Given the description of an element on the screen output the (x, y) to click on. 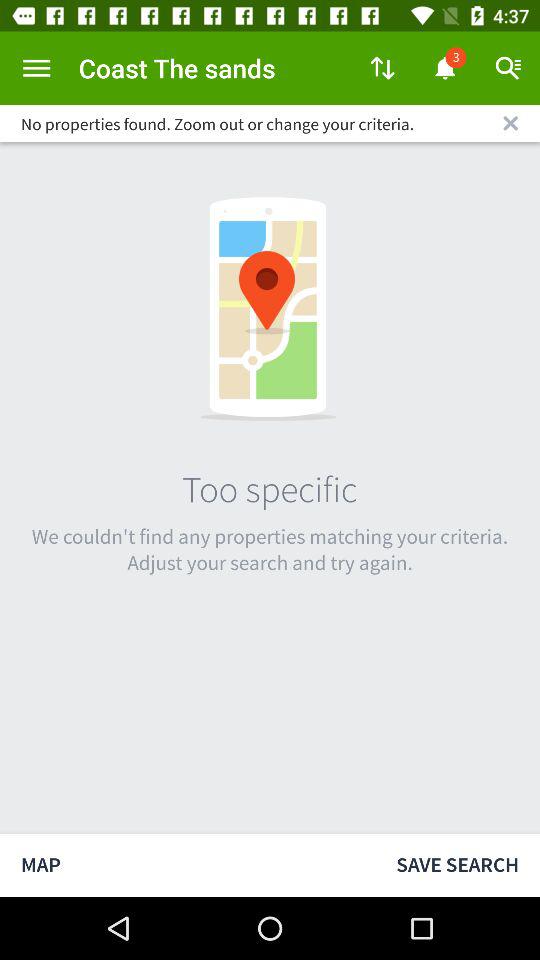
menu options (36, 68)
